Given the description of an element on the screen output the (x, y) to click on. 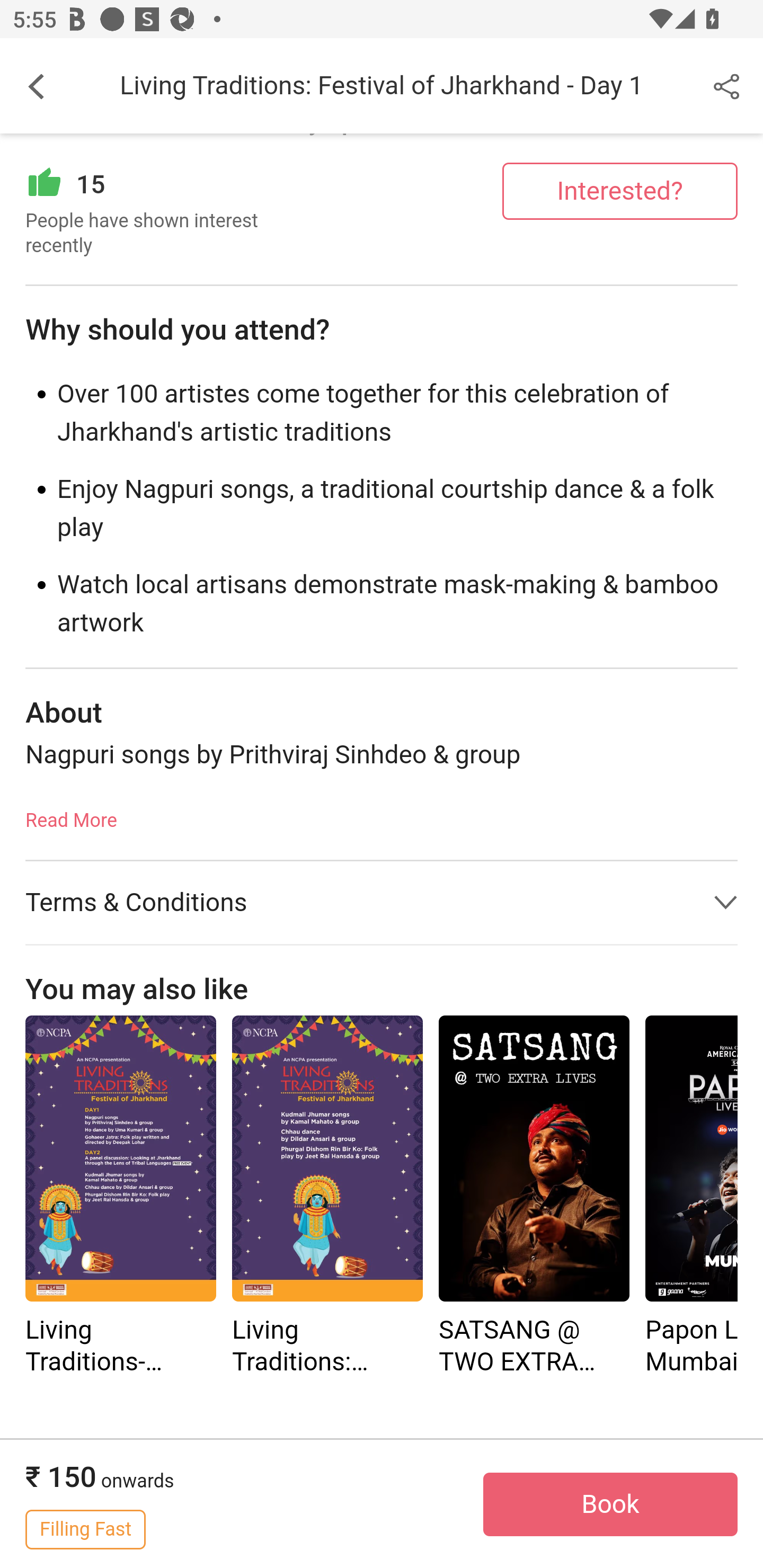
Interested? (619, 191)
Read More (71, 815)
Terms & Conditions (381, 902)
Living Traditions- Festival of Jharkhand (120, 1197)
Living Traditions- Festival of Jharkhand (120, 1159)
Living Traditions: Festival of Jharkhand - Day 2 (326, 1197)
Living Traditions: Festival of Jharkhand - Day 2 (326, 1159)
SATSANG @ TWO EXTRA LIVES (533, 1197)
SATSANG @ TWO EXTRA LIVES (533, 1159)
Book (609, 1505)
